Given the description of an element on the screen output the (x, y) to click on. 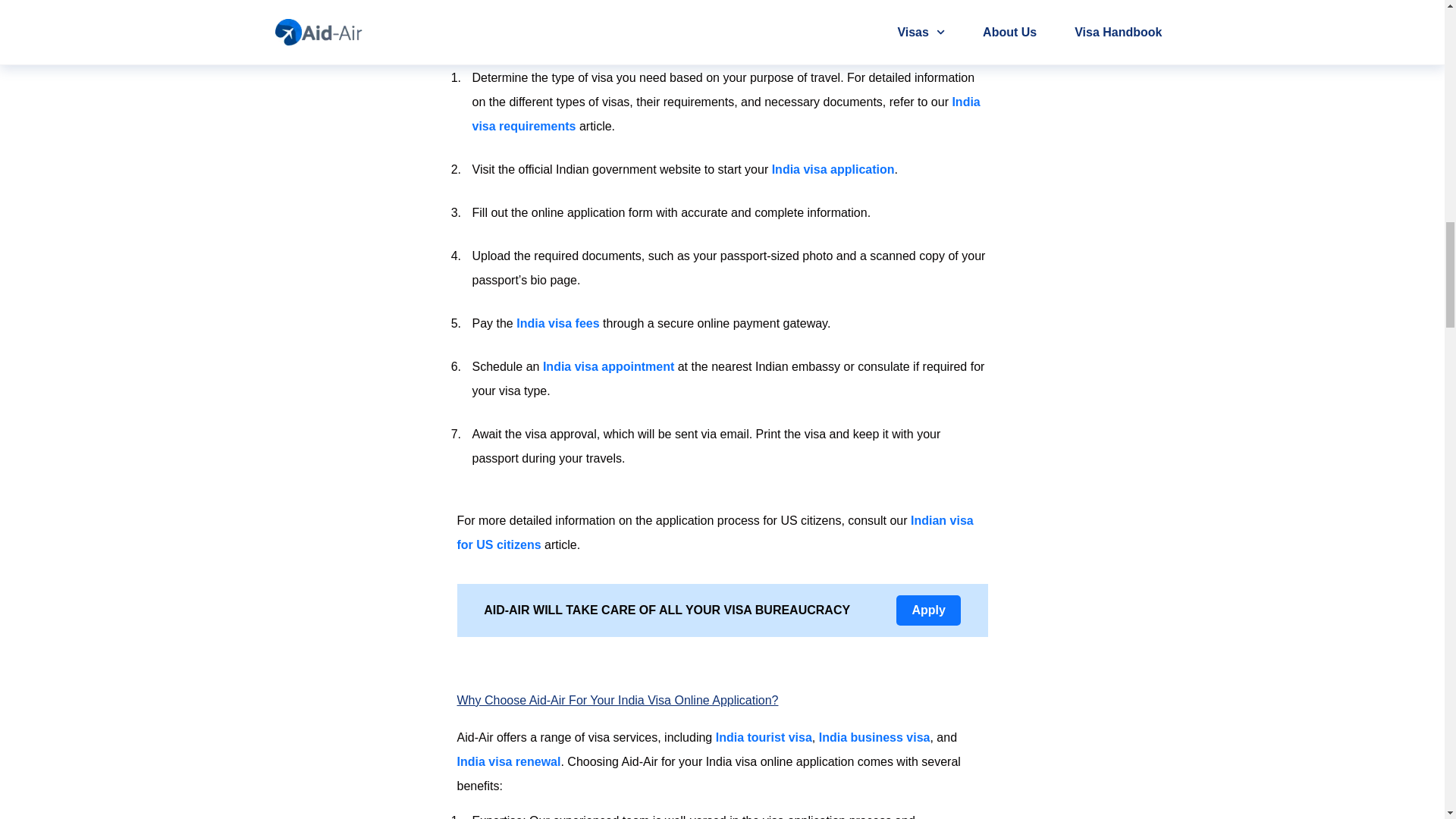
India visa fees (557, 323)
India visa requirements (725, 113)
India visa application (833, 169)
India visa appointment (608, 366)
